Given the description of an element on the screen output the (x, y) to click on. 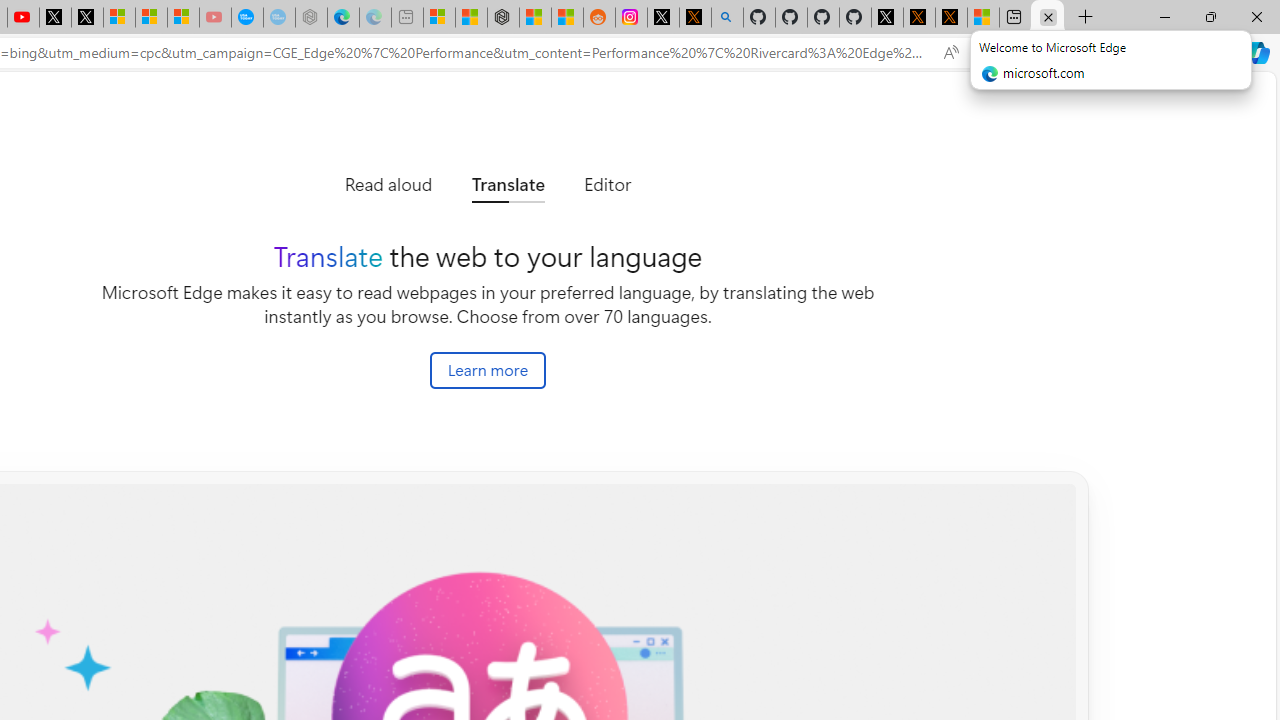
Log in to X / X (663, 17)
X Privacy Policy (950, 17)
